Given the description of an element on the screen output the (x, y) to click on. 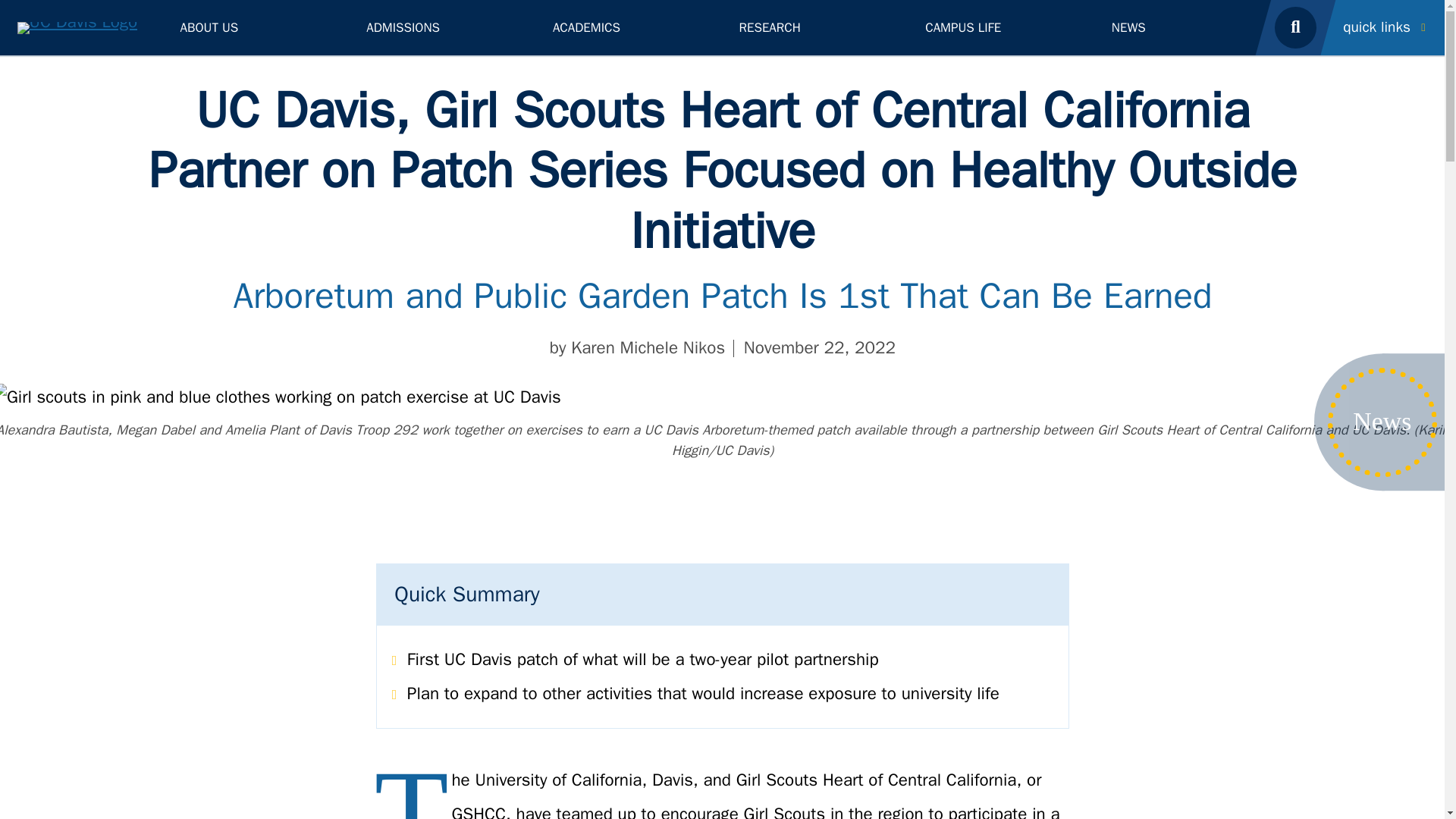
Tuesday, November 22, 2022 - 10:30am (818, 348)
ABOUT US (255, 27)
